Given the description of an element on the screen output the (x, y) to click on. 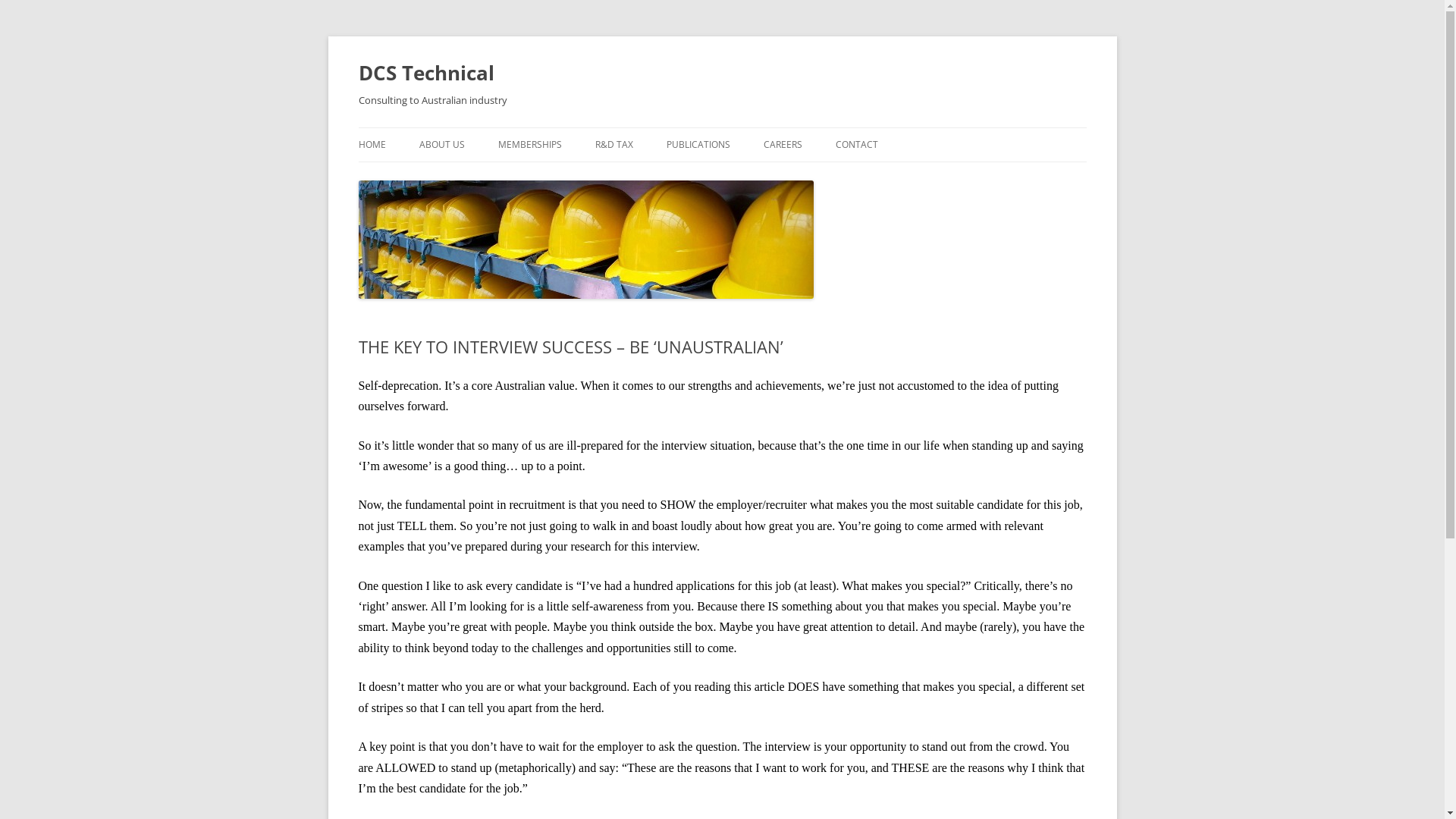
CONTACT Element type: text (856, 144)
CAREERS Element type: text (781, 144)
DCS Technical Element type: text (425, 72)
HOME Element type: text (371, 144)
R&D TAX Element type: text (613, 144)
PUBLICATIONS Element type: text (697, 144)
CAREER VIDEOS & PODCASTS Element type: text (838, 176)
ABOUT US Element type: text (441, 144)
MEMBERSHIPS Element type: text (529, 144)
Skip to content Element type: text (721, 127)
